Given the description of an element on the screen output the (x, y) to click on. 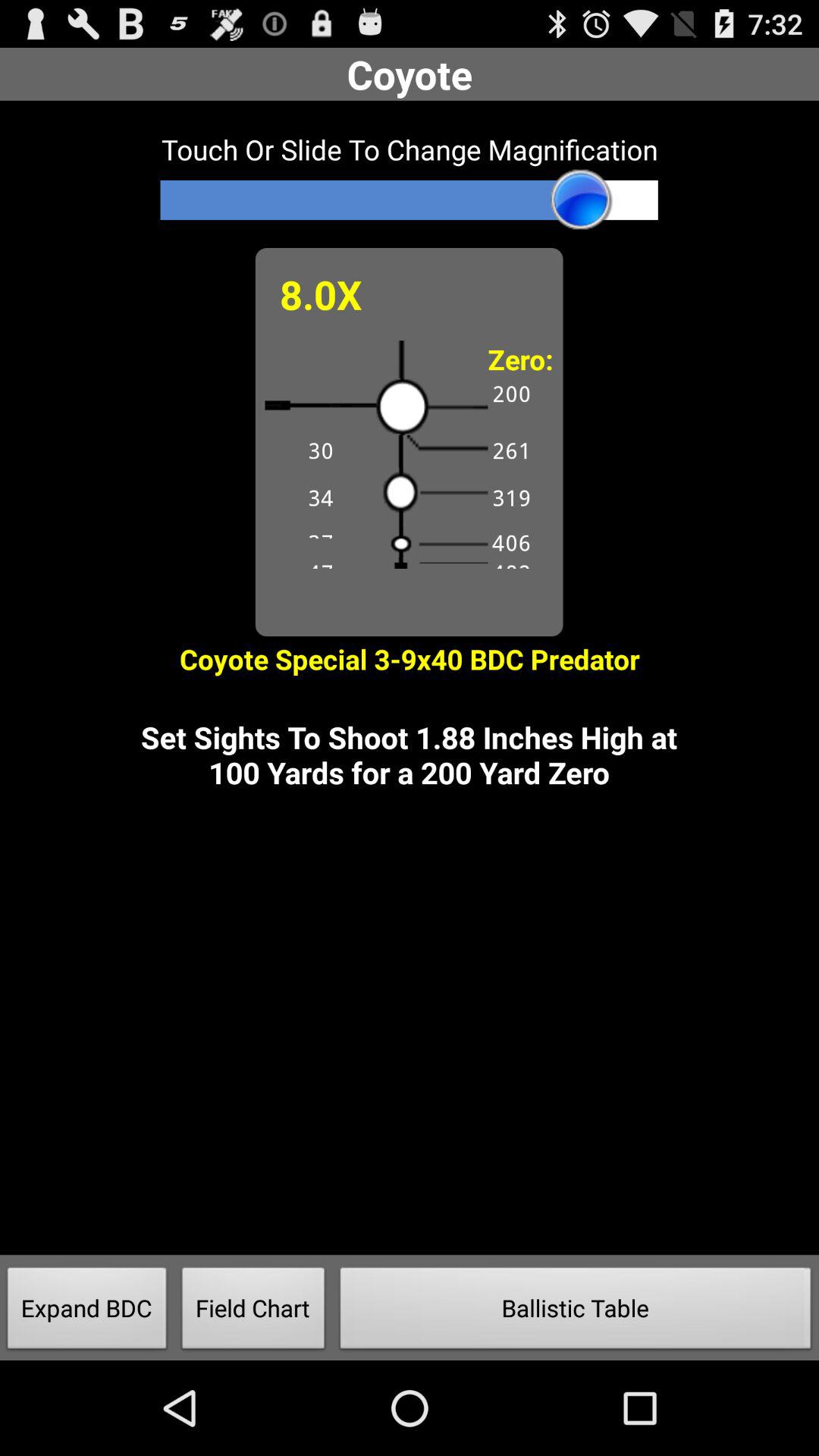
select expand bdc icon (87, 1312)
